Given the description of an element on the screen output the (x, y) to click on. 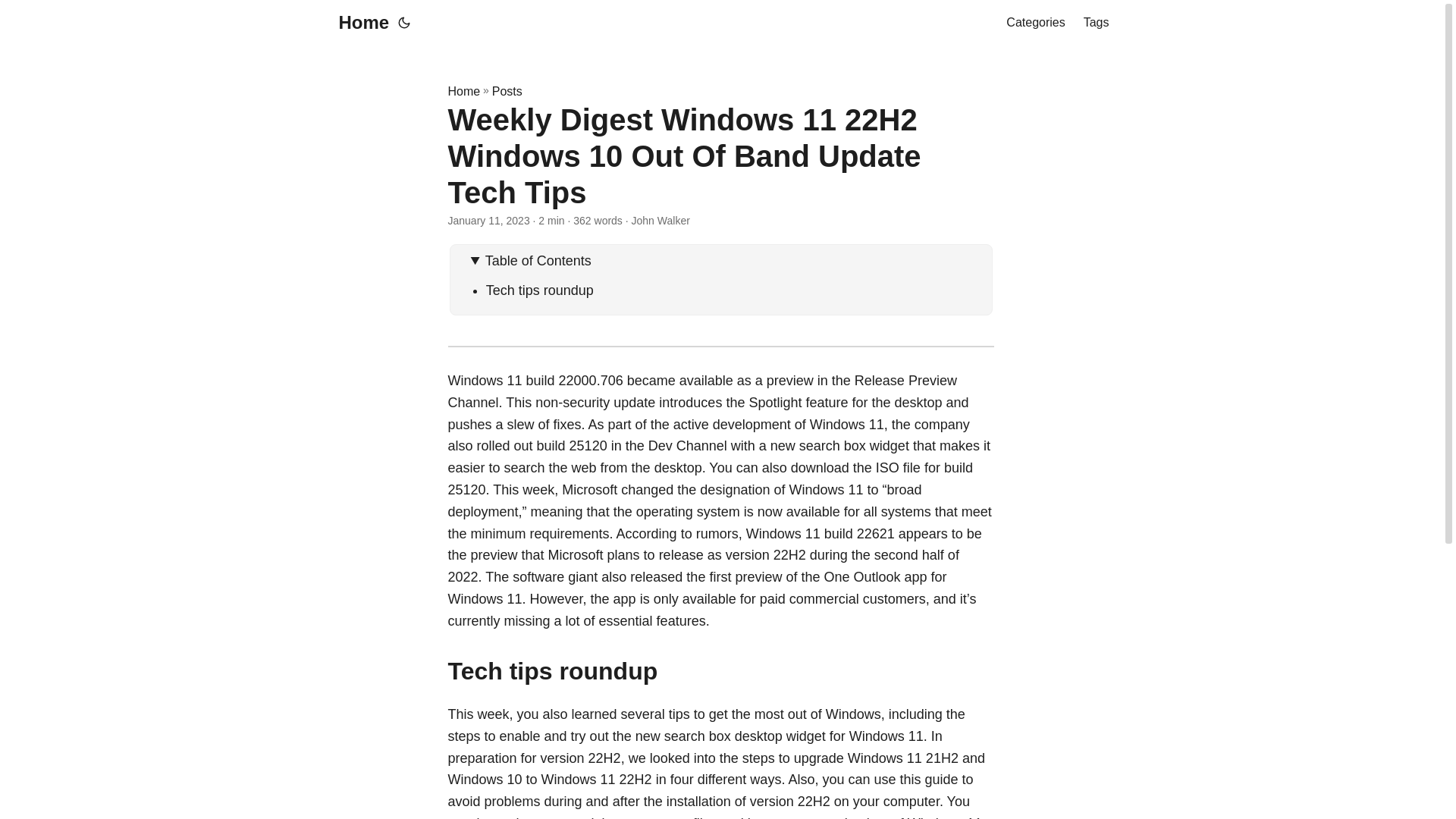
Home (463, 91)
Tech tips roundup (540, 290)
Categories (1035, 22)
Home (359, 22)
Posts (507, 91)
Categories (1035, 22)
